Given the description of an element on the screen output the (x, y) to click on. 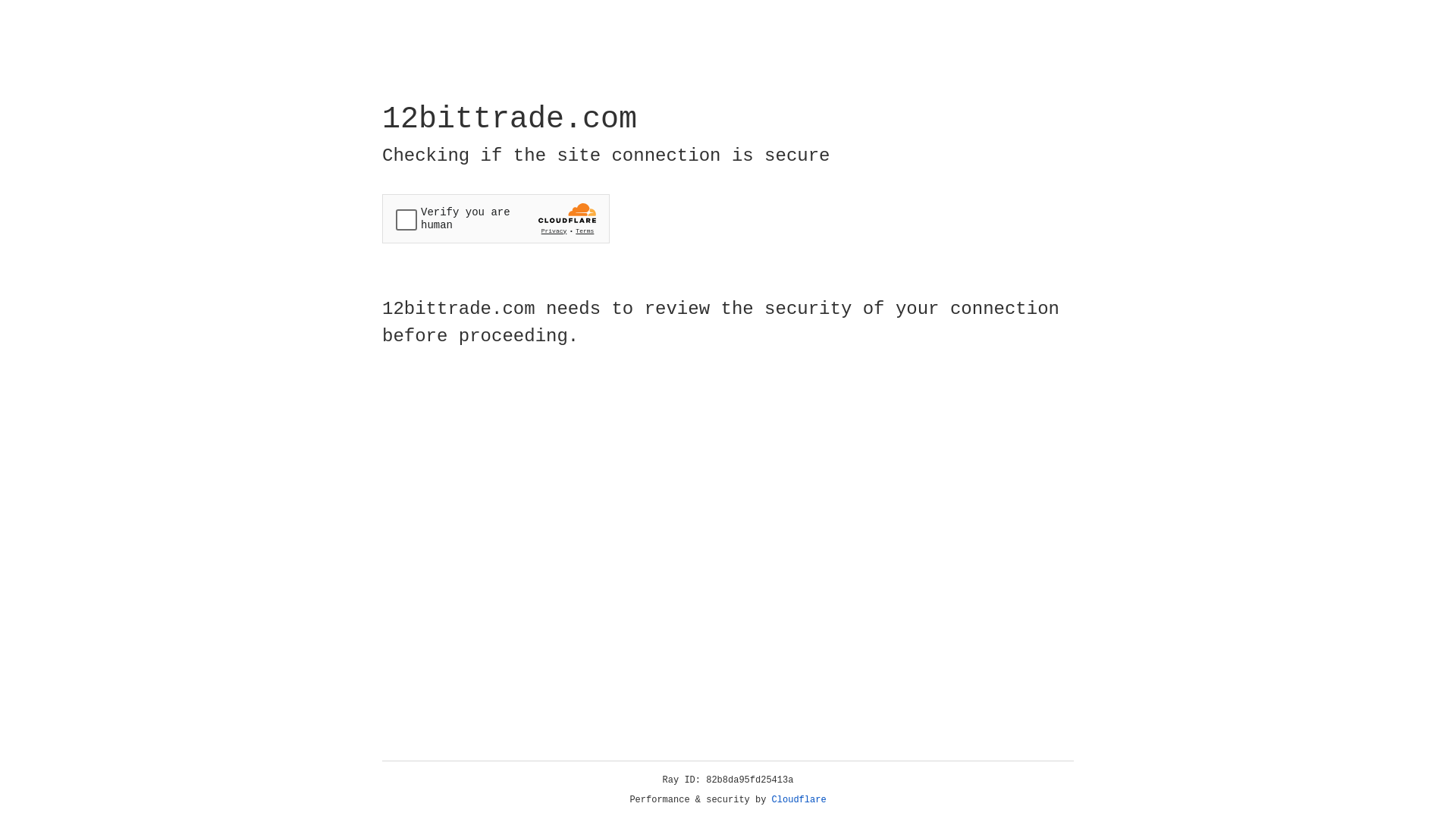
Cloudflare Element type: text (798, 799)
Widget containing a Cloudflare security challenge Element type: hover (495, 218)
